Given the description of an element on the screen output the (x, y) to click on. 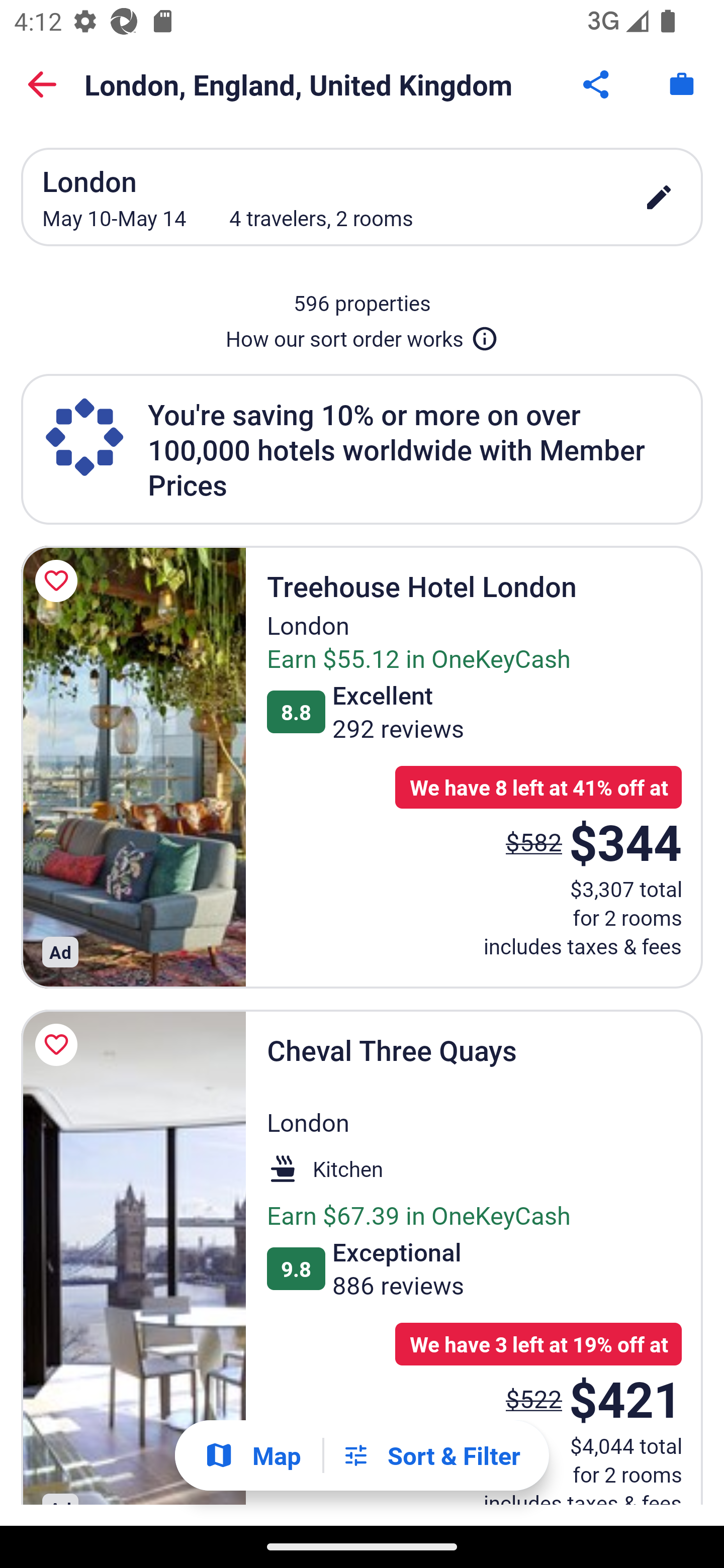
Back (42, 84)
Share Button (597, 84)
Trips. Button (681, 84)
London May 10-May 14 4 travelers, 2 rooms edit (361, 196)
How our sort order works (361, 334)
Save Treehouse Hotel London to a trip (59, 580)
Treehouse Hotel London (133, 766)
$582 The price was $582 (533, 841)
Save Cheval Three Quays to a trip (59, 1043)
Cheval Three Quays (133, 1257)
$522 The price was $522 (533, 1398)
Filters Sort & Filter Filters Button (430, 1455)
Show map Map Show map Button (252, 1455)
